Given the description of an element on the screen output the (x, y) to click on. 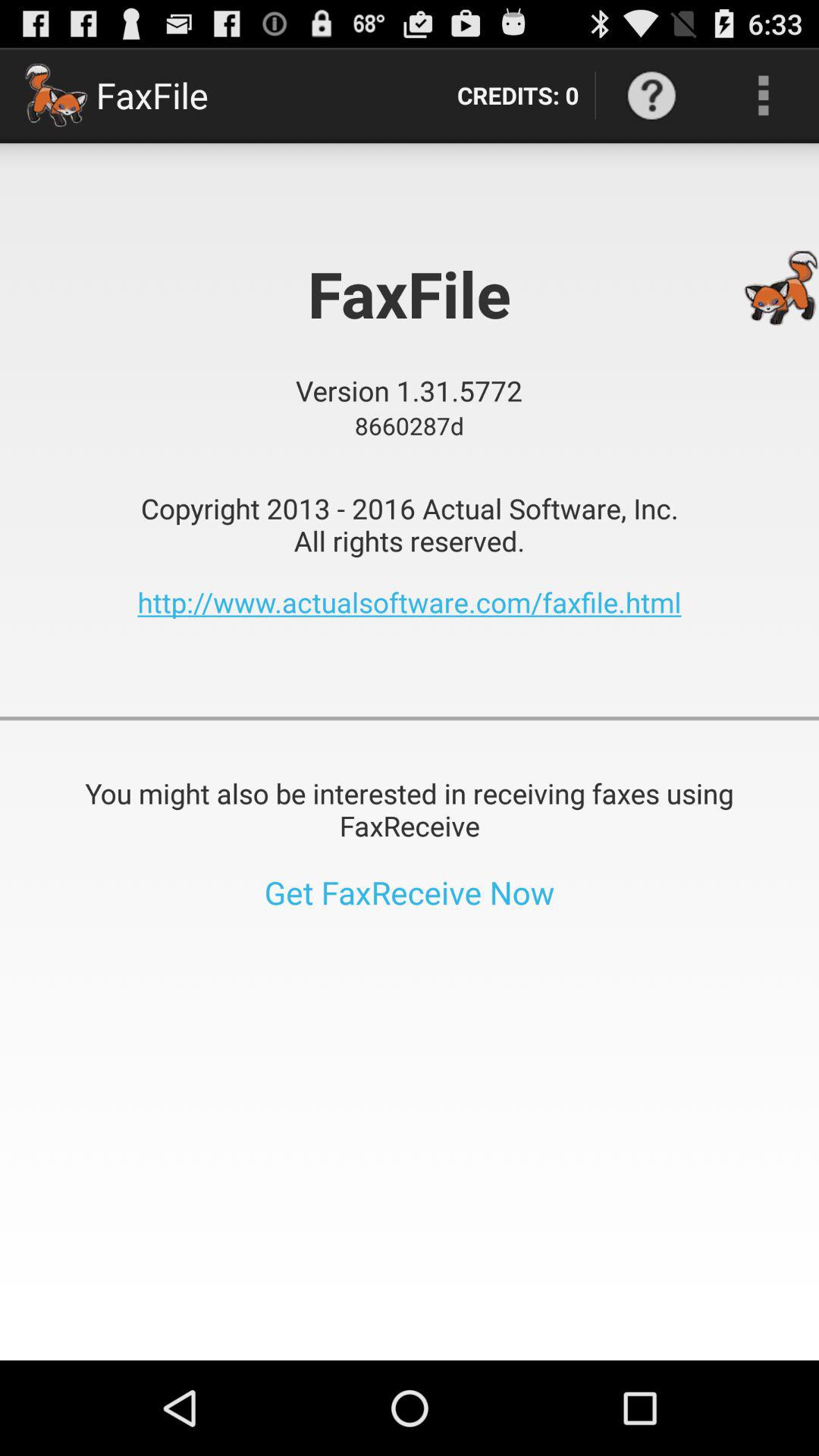
choose item below the copyright 2013 2016 (409, 602)
